Given the description of an element on the screen output the (x, y) to click on. 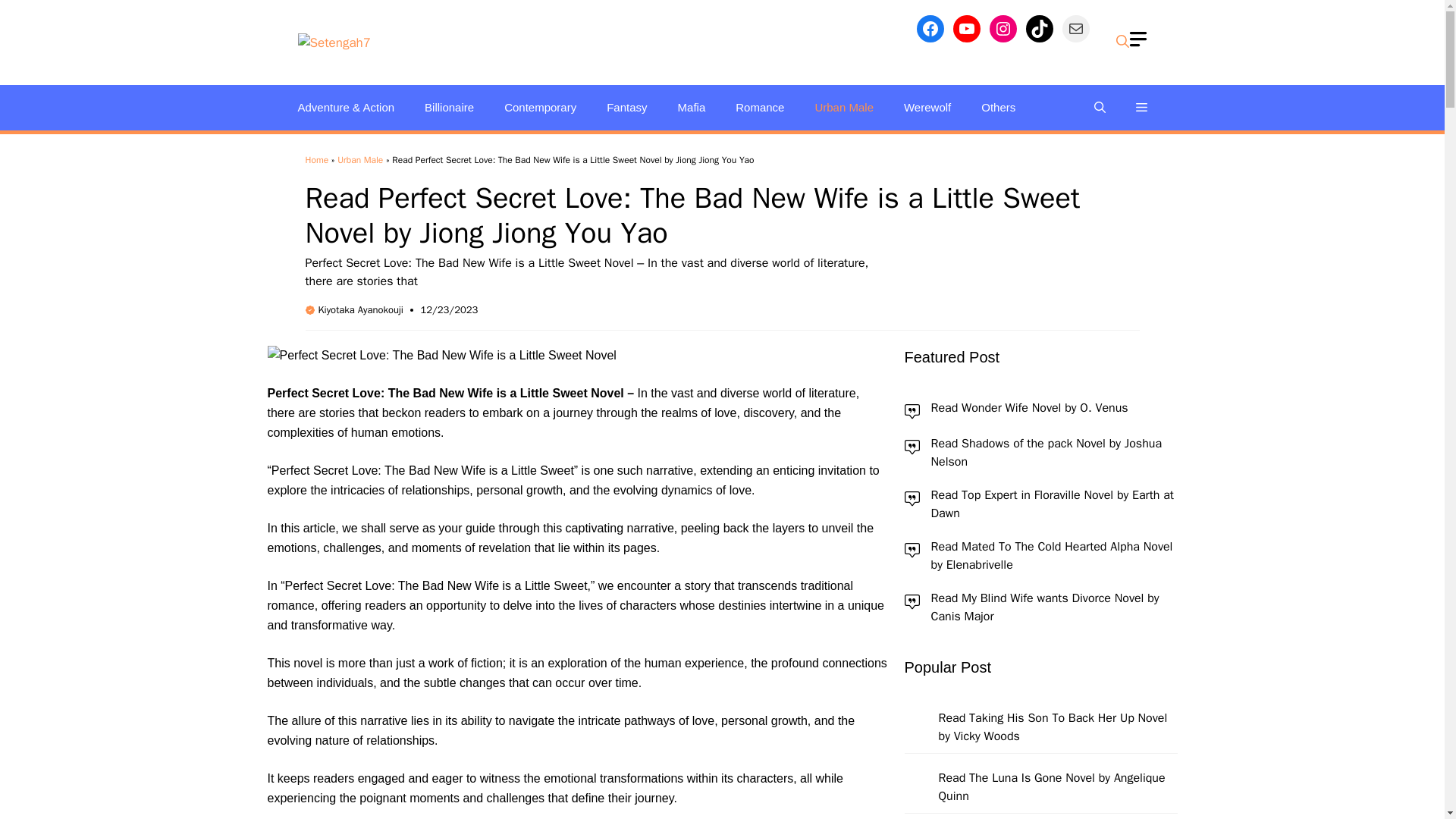
Kiyotaka Ayanokouji (360, 309)
YouTube (965, 28)
Contemporary (540, 107)
Home (316, 159)
Fantasy (626, 107)
Urban Male (359, 159)
Others (998, 107)
Romance (759, 107)
TikTok (1038, 28)
Billionaire (449, 107)
Mafia (691, 107)
Urban Male (843, 107)
Werewolf (927, 107)
Mail (1075, 28)
Facebook (929, 28)
